Given the description of an element on the screen output the (x, y) to click on. 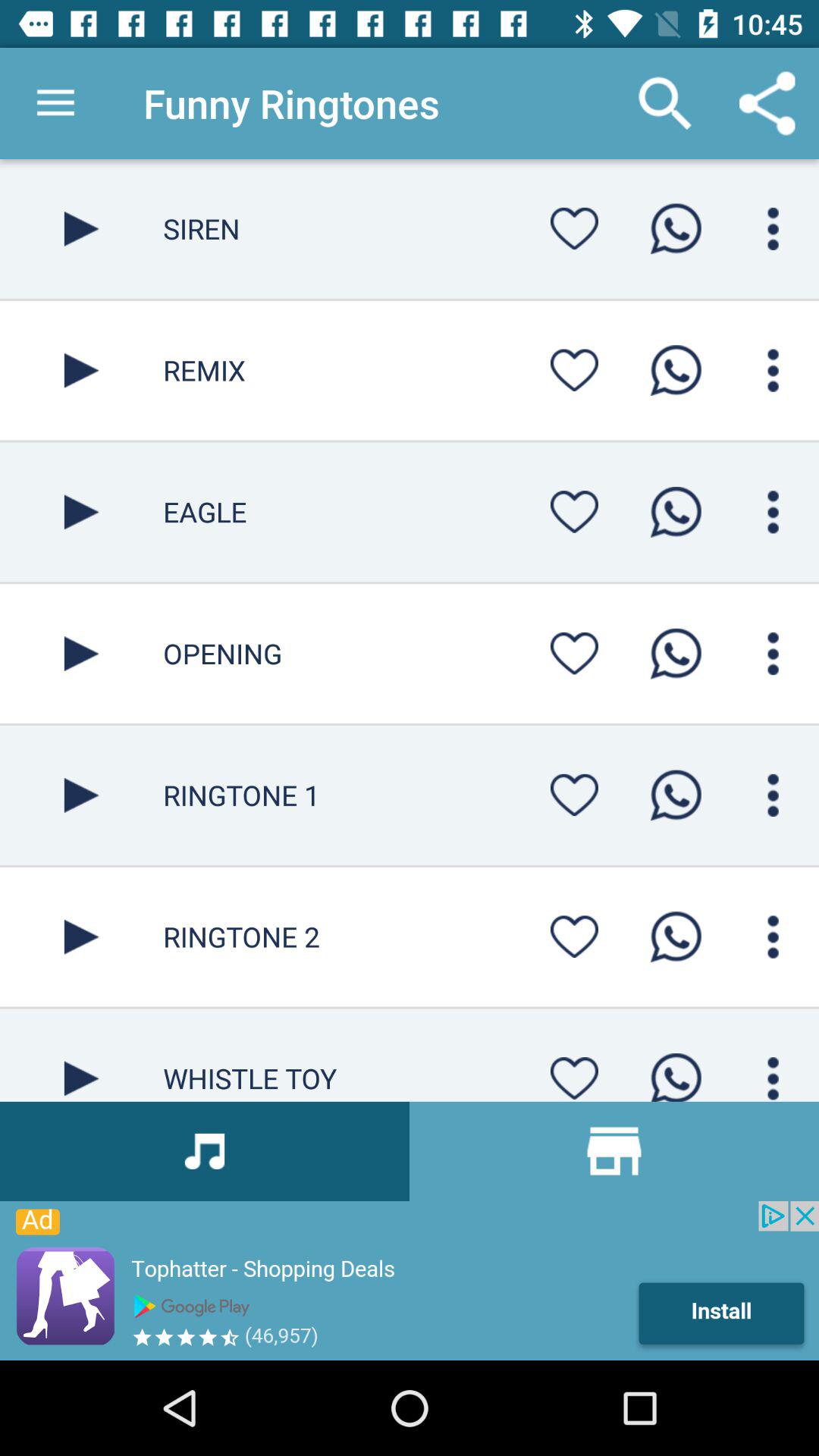
play video (81, 1054)
